Given the description of an element on the screen output the (x, y) to click on. 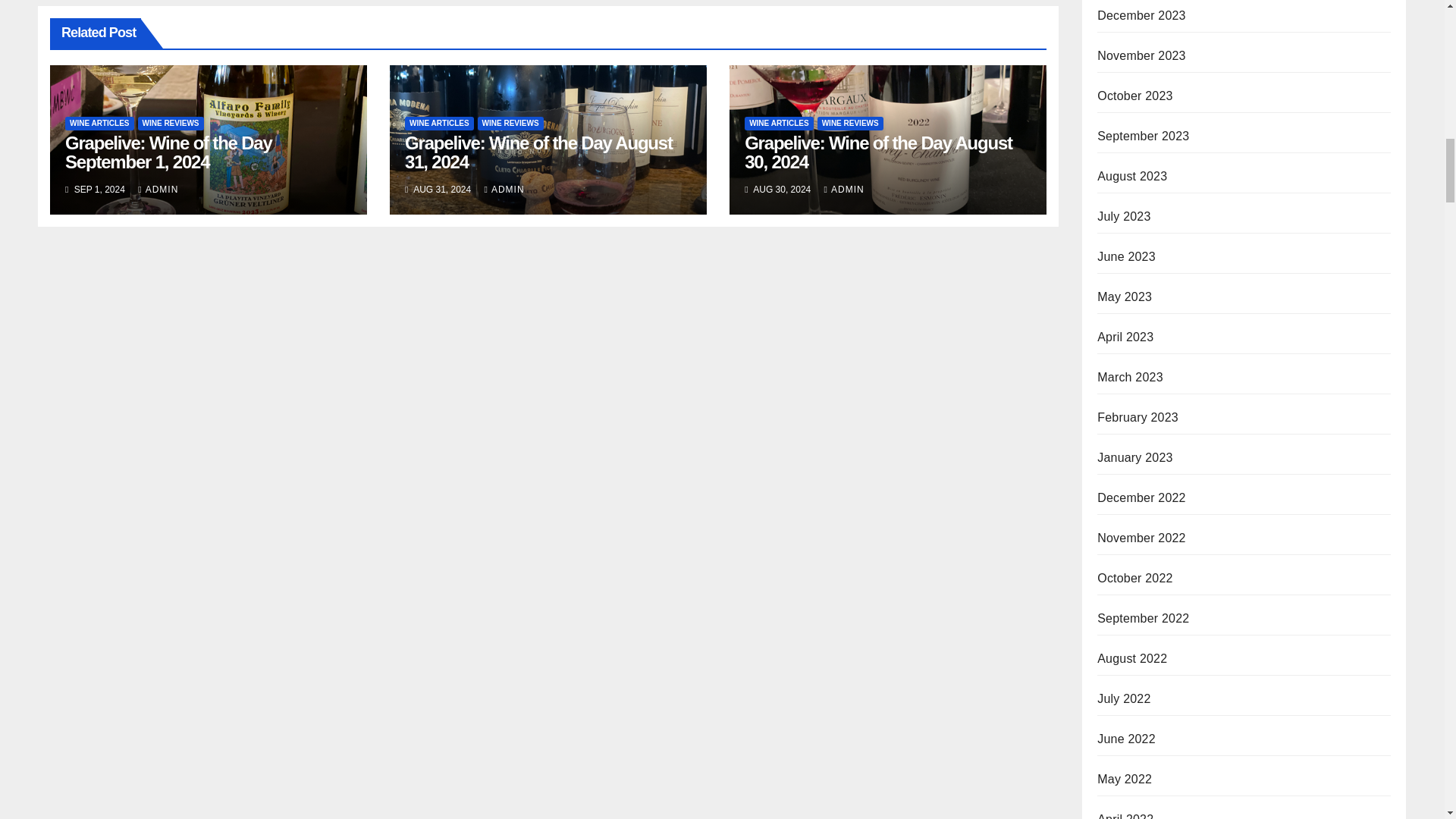
Grapelive: Wine of the Day September 1, 2024 (168, 151)
Permalink to: Grapelive: Wine of the Day August 31, 2024 (538, 151)
Permalink to: Grapelive: Wine of the Day August 30, 2024 (877, 151)
Permalink to: Grapelive: Wine of the Day September 1, 2024 (168, 151)
WINE REVIEWS (510, 123)
WINE ARTICLES (99, 123)
WINE ARTICLES (439, 123)
ADMIN (157, 189)
WINE REVIEWS (170, 123)
